Given the description of an element on the screen output the (x, y) to click on. 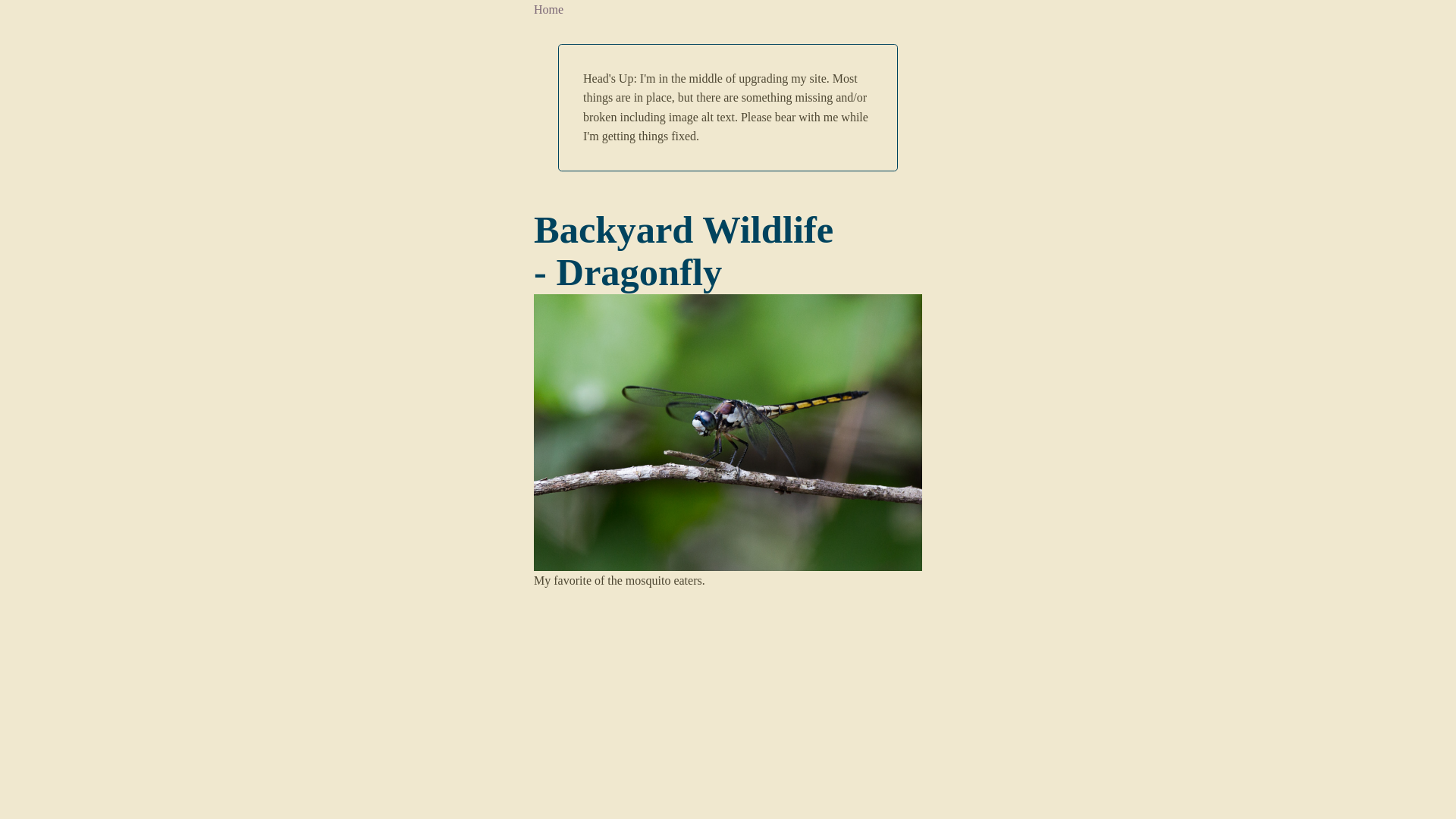
Home (548, 9)
